Given the description of an element on the screen output the (x, y) to click on. 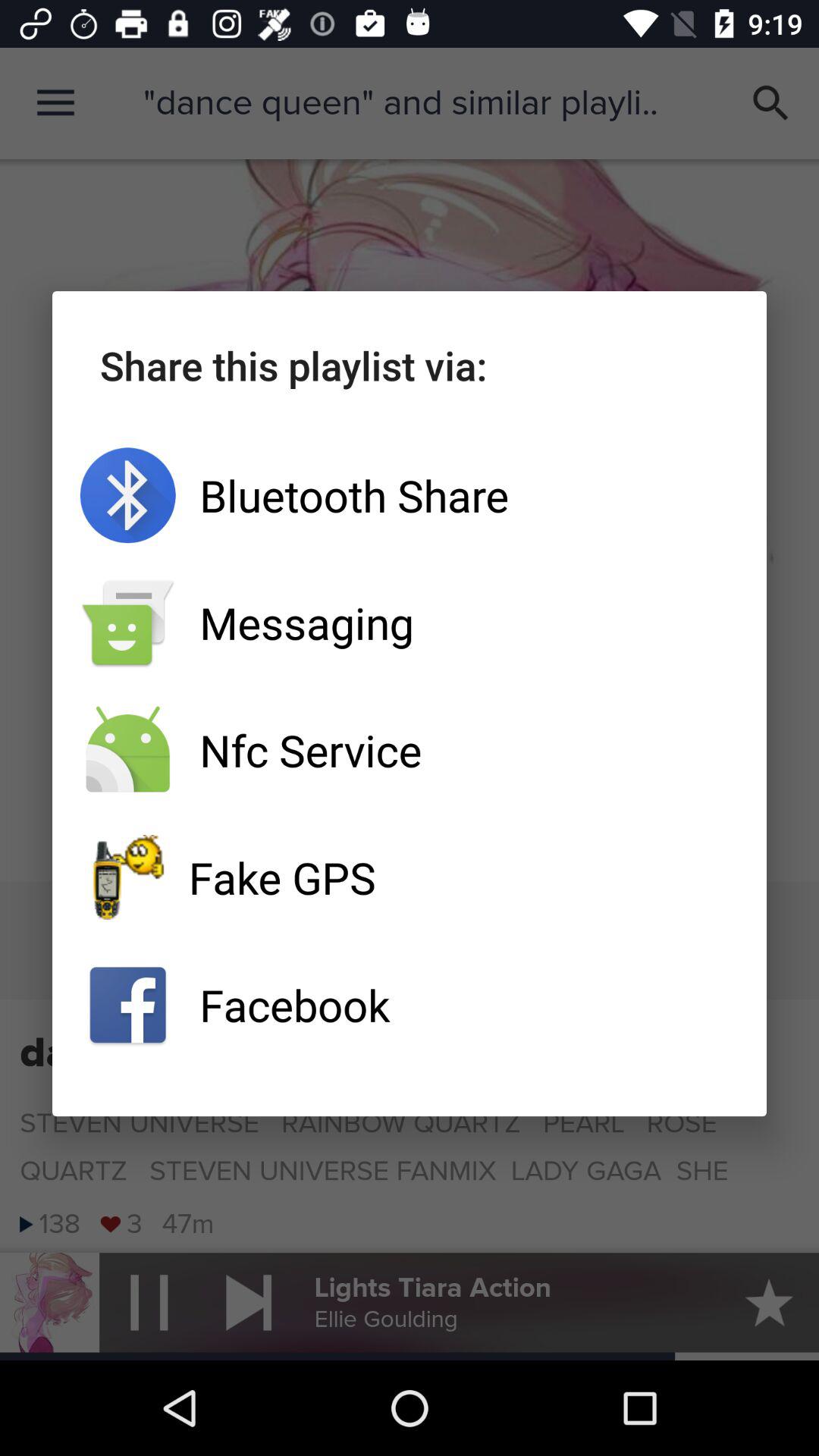
open messaging (409, 622)
